Given the description of an element on the screen output the (x, y) to click on. 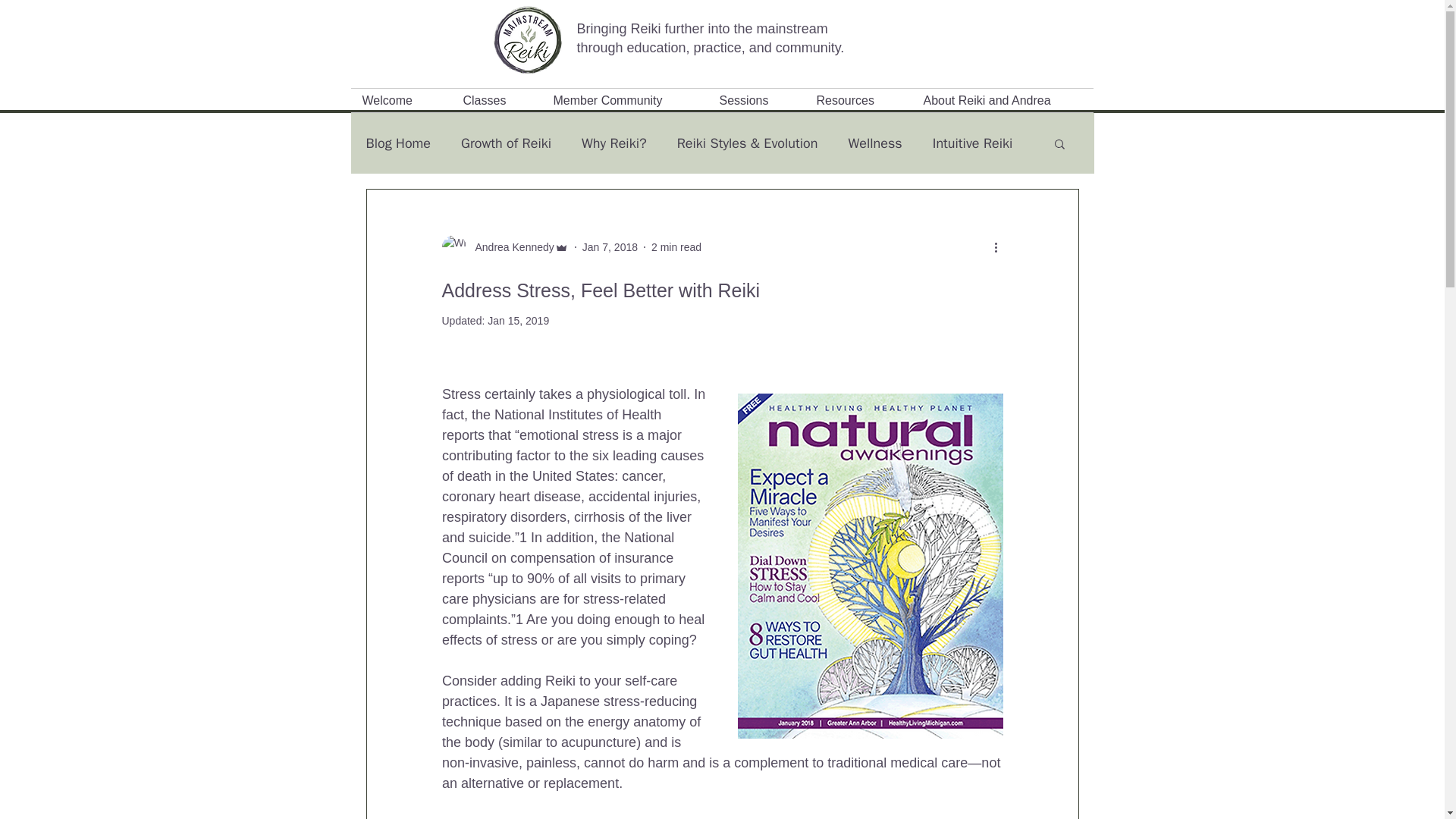
Welcome (400, 100)
Blog Home (397, 143)
Jan 15, 2019 (517, 320)
Growth of Reiki (506, 143)
Jan 7, 2018 (609, 246)
Wellness (875, 143)
Andrea Kennedy (509, 247)
2 min read (675, 246)
Why Reiki? (613, 143)
Member Community (624, 100)
Intuitive Reiki (973, 143)
